Given the description of an element on the screen output the (x, y) to click on. 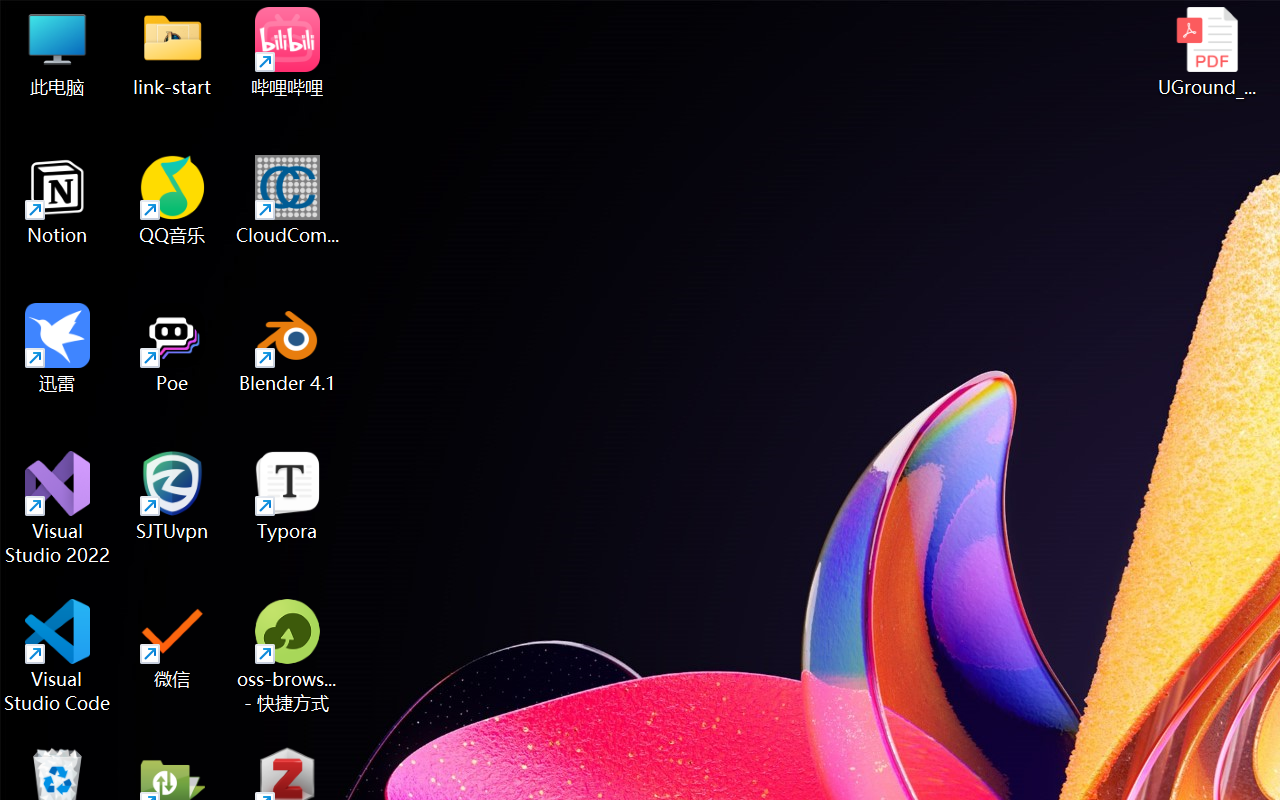
UGround_paper.pdf (1206, 52)
CloudCompare (287, 200)
Visual Studio 2022 (57, 508)
Typora (287, 496)
Visual Studio Code (57, 656)
Blender 4.1 (287, 348)
